Given the description of an element on the screen output the (x, y) to click on. 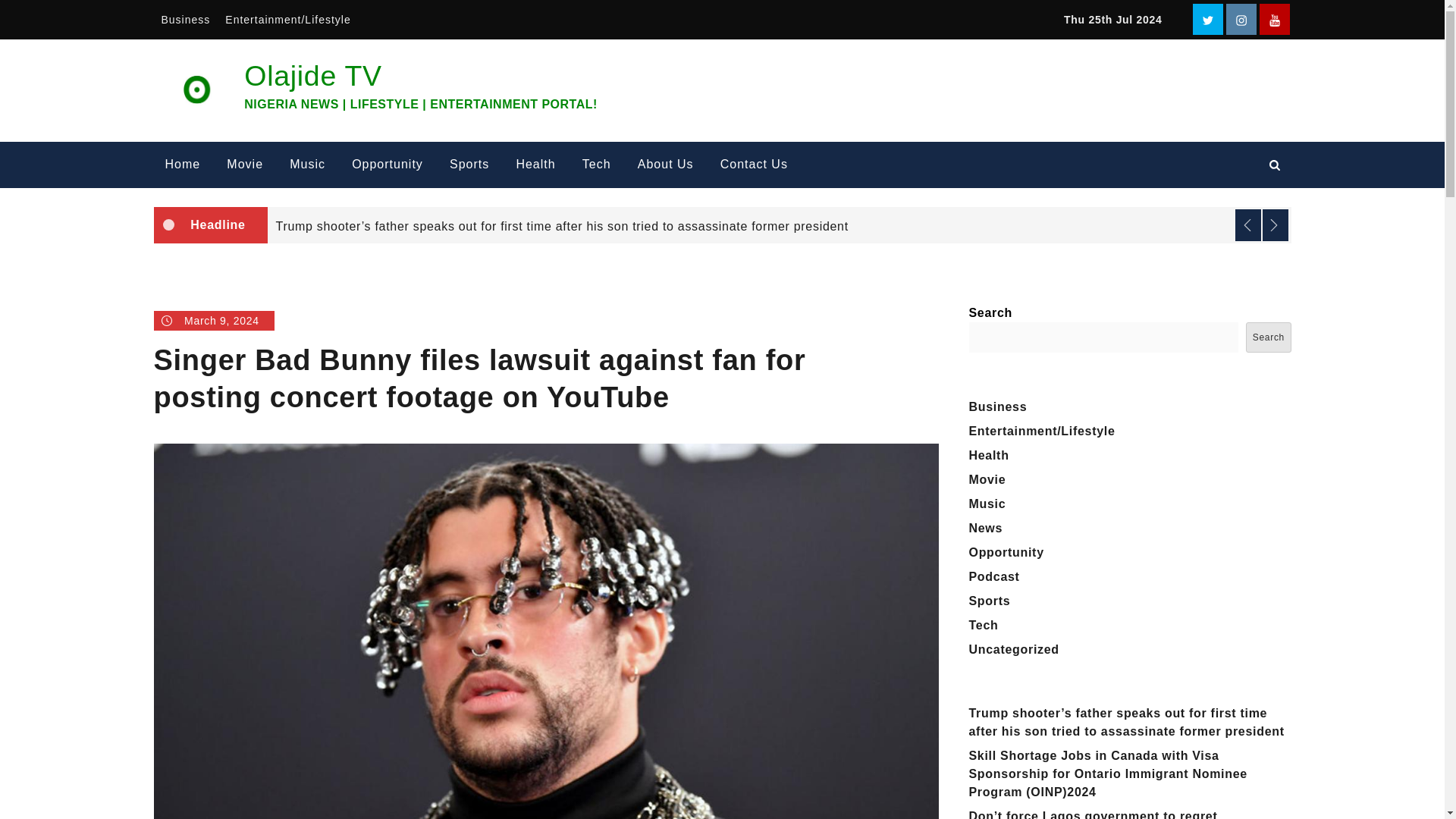
Music (307, 164)
Home (181, 164)
Tech (596, 164)
Movie (245, 164)
instagram (1240, 19)
Contact Us (754, 164)
March 9, 2024 (212, 320)
YouTube (1273, 19)
Opportunity (386, 164)
Health (534, 164)
Business (184, 19)
Olajide TV (312, 75)
Sports (469, 164)
Twitter (1207, 19)
About Us (665, 164)
